Given the description of an element on the screen output the (x, y) to click on. 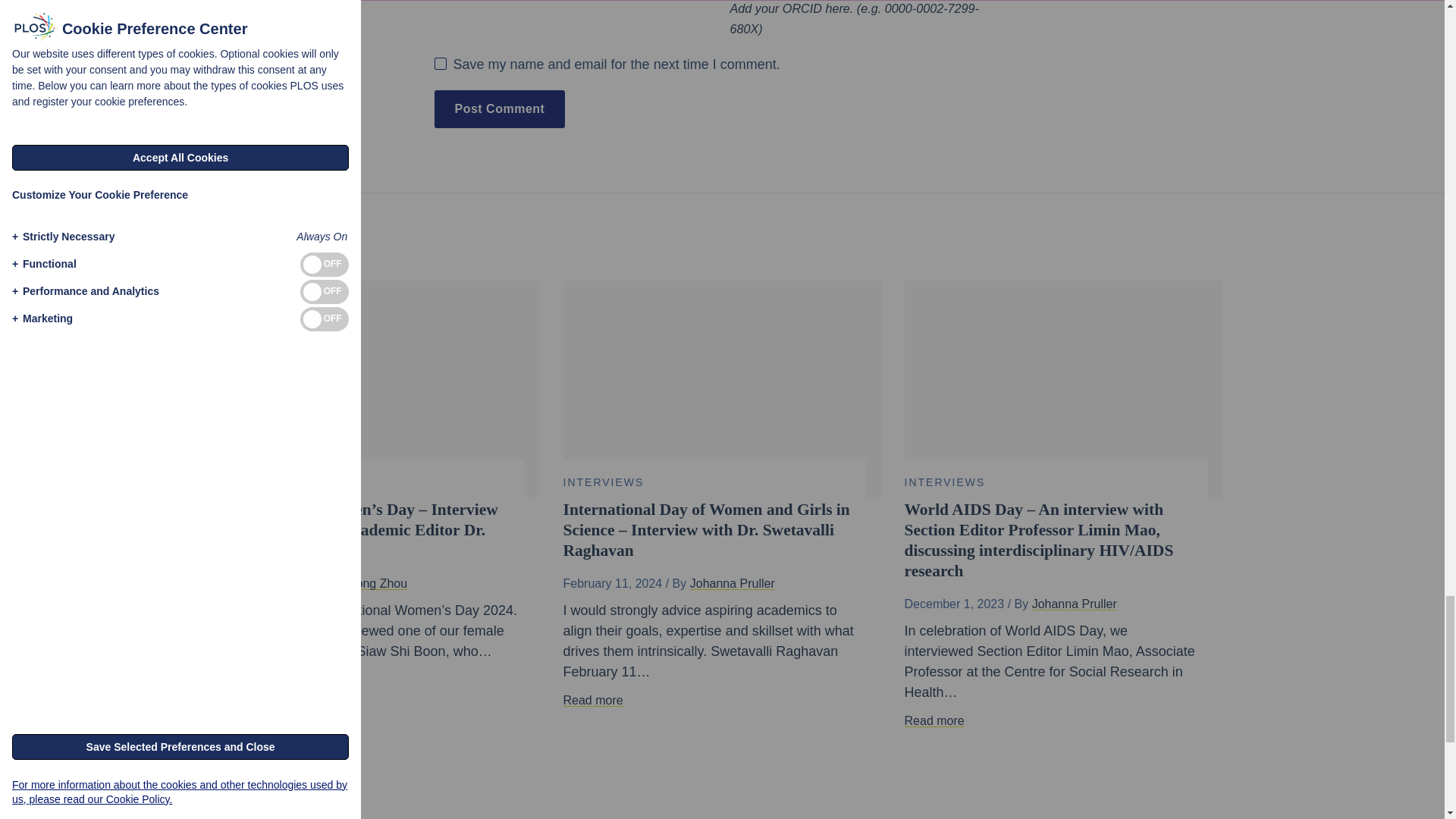
yes (439, 63)
Post Comment (498, 108)
